Given the description of an element on the screen output the (x, y) to click on. 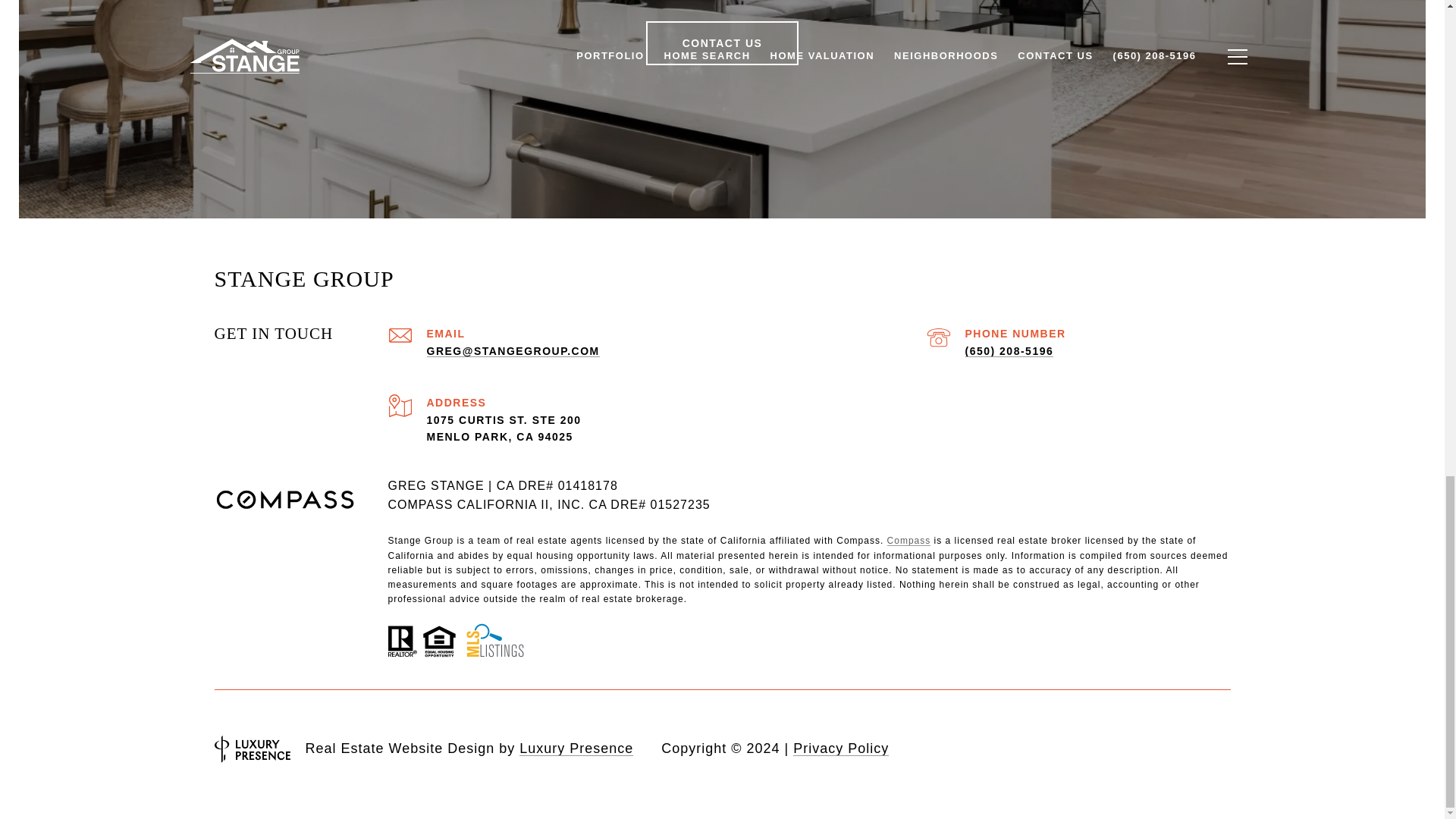
CONTACT US (722, 43)
